Given the description of an element on the screen output the (x, y) to click on. 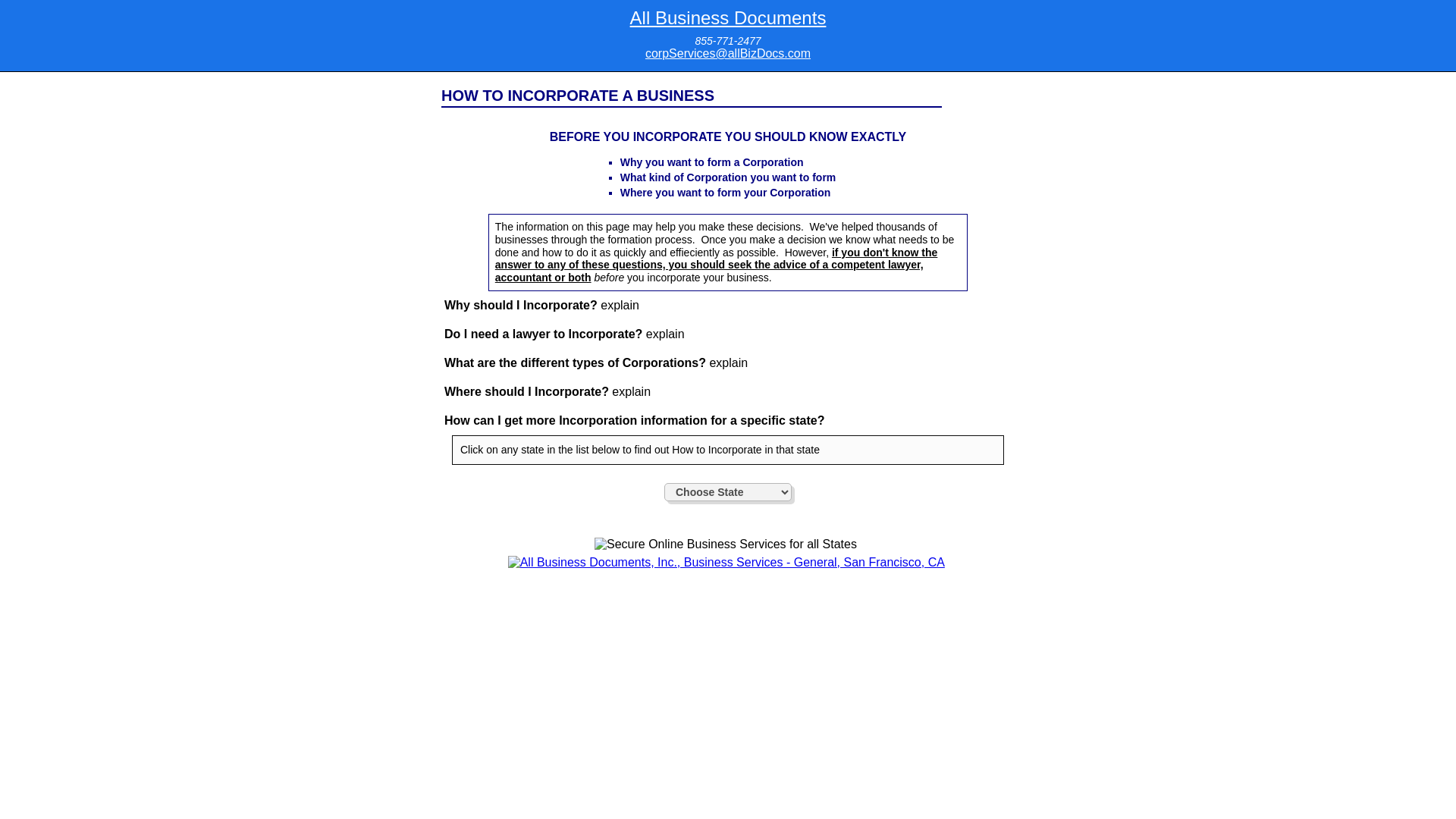
explain (619, 305)
All Business Documents (728, 17)
explain (728, 362)
explain (630, 391)
explain (665, 333)
